Given the description of an element on the screen output the (x, y) to click on. 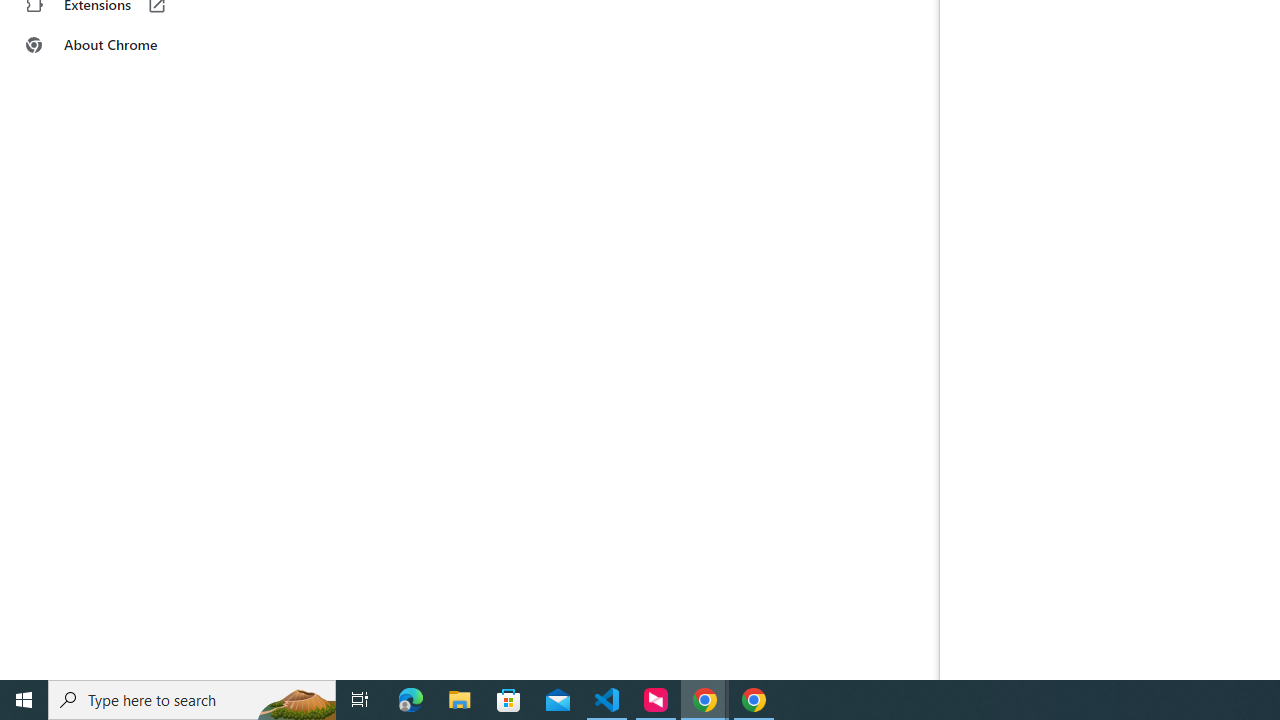
About Chrome (124, 44)
